Given the description of an element on the screen output the (x, y) to click on. 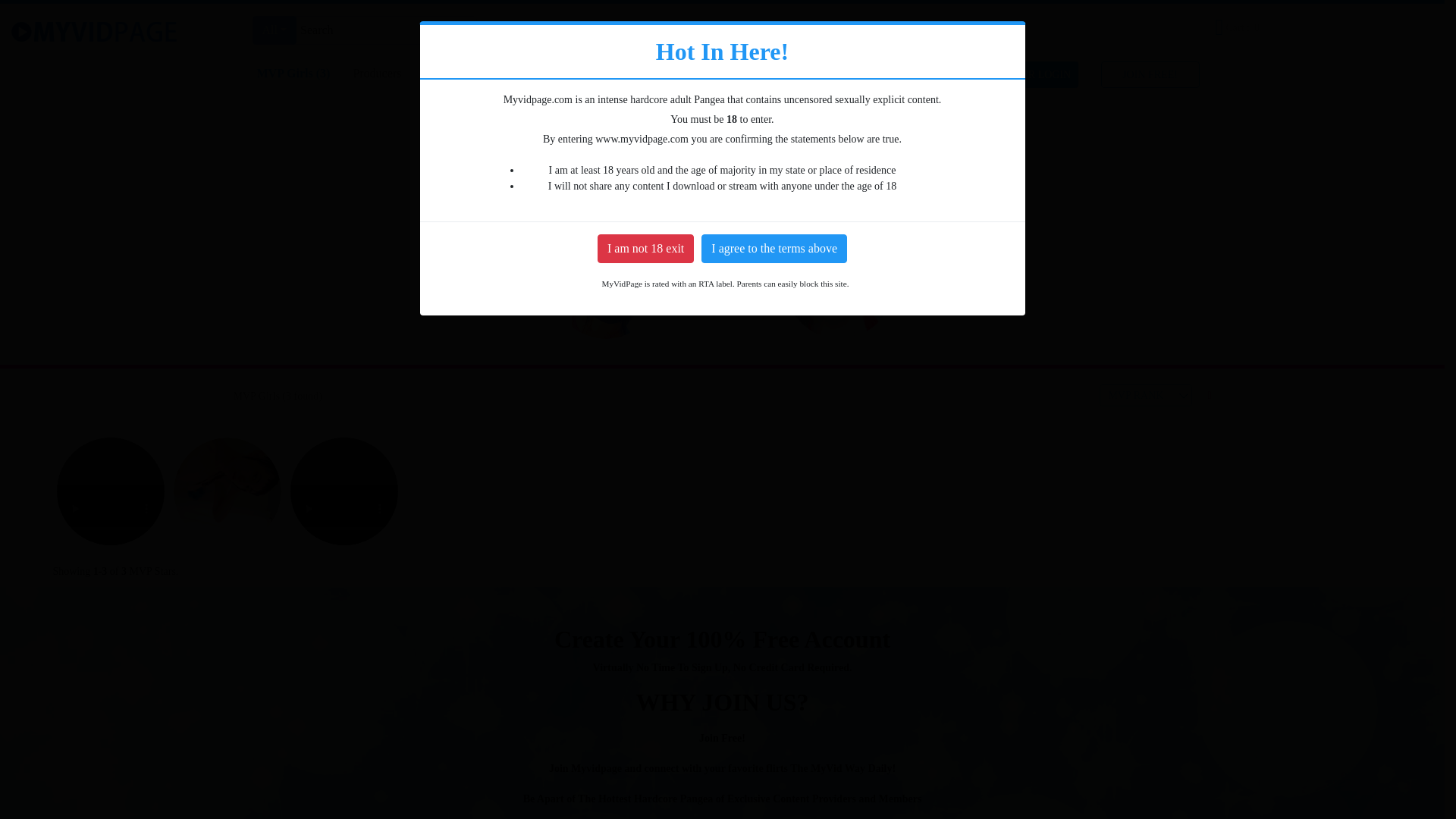
Producers (376, 73)
MVP Stars (809, 31)
Vids (752, 31)
MVP Boys (904, 181)
All (274, 30)
MEMBER LOGIN (1028, 73)
Cart :0 (1238, 26)
MVP Boys (529, 73)
MVP Trans (452, 73)
I agree to the terms above (774, 248)
